Given the description of an element on the screen output the (x, y) to click on. 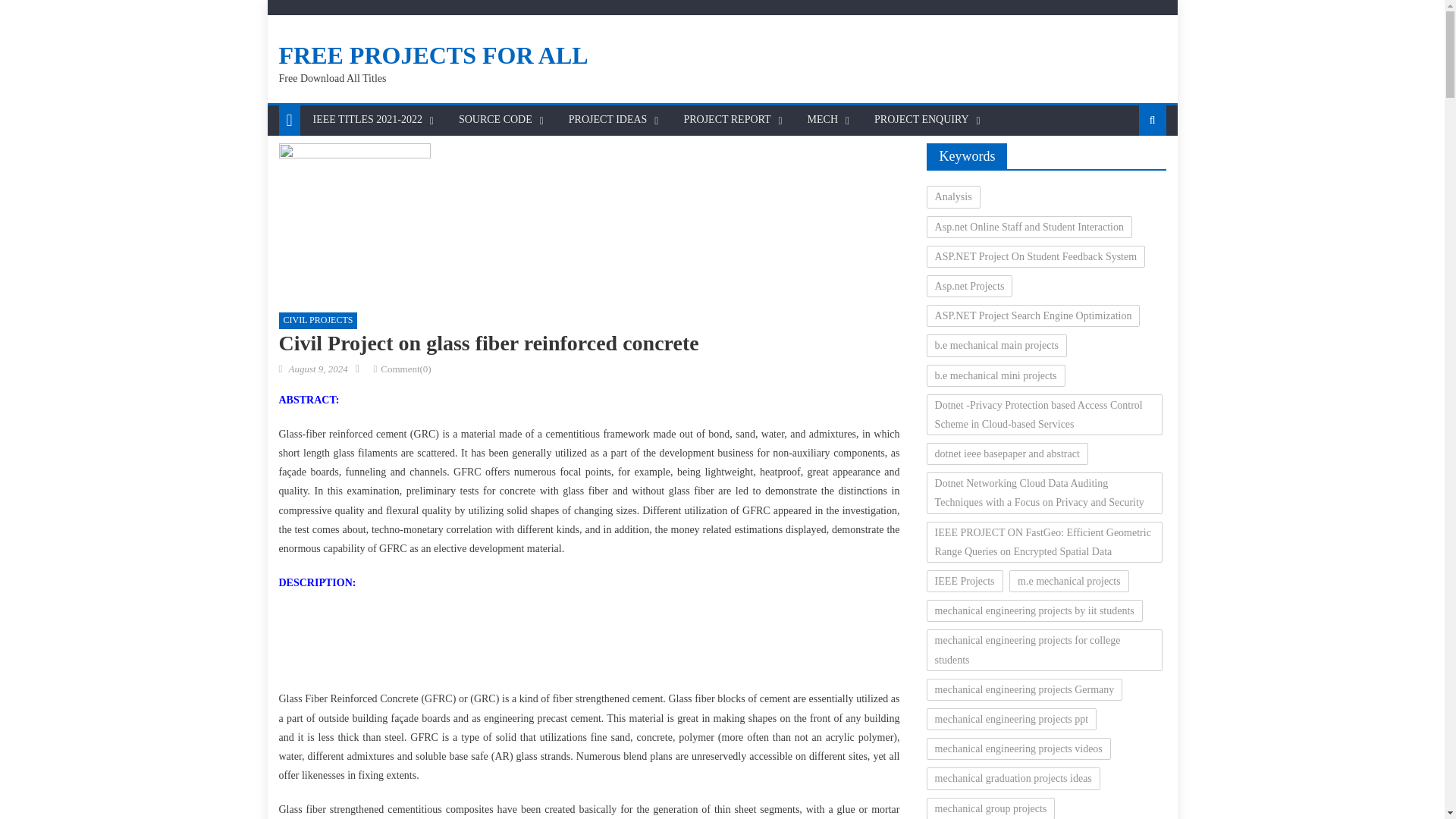
IEEE TITLES 2021-2022 (367, 119)
PROJECT REPORT (726, 119)
FREE PROJECTS FOR ALL (433, 54)
PROJECT IDEAS (608, 119)
SOURCE CODE (494, 119)
Advertisement (588, 645)
